Given the description of an element on the screen output the (x, y) to click on. 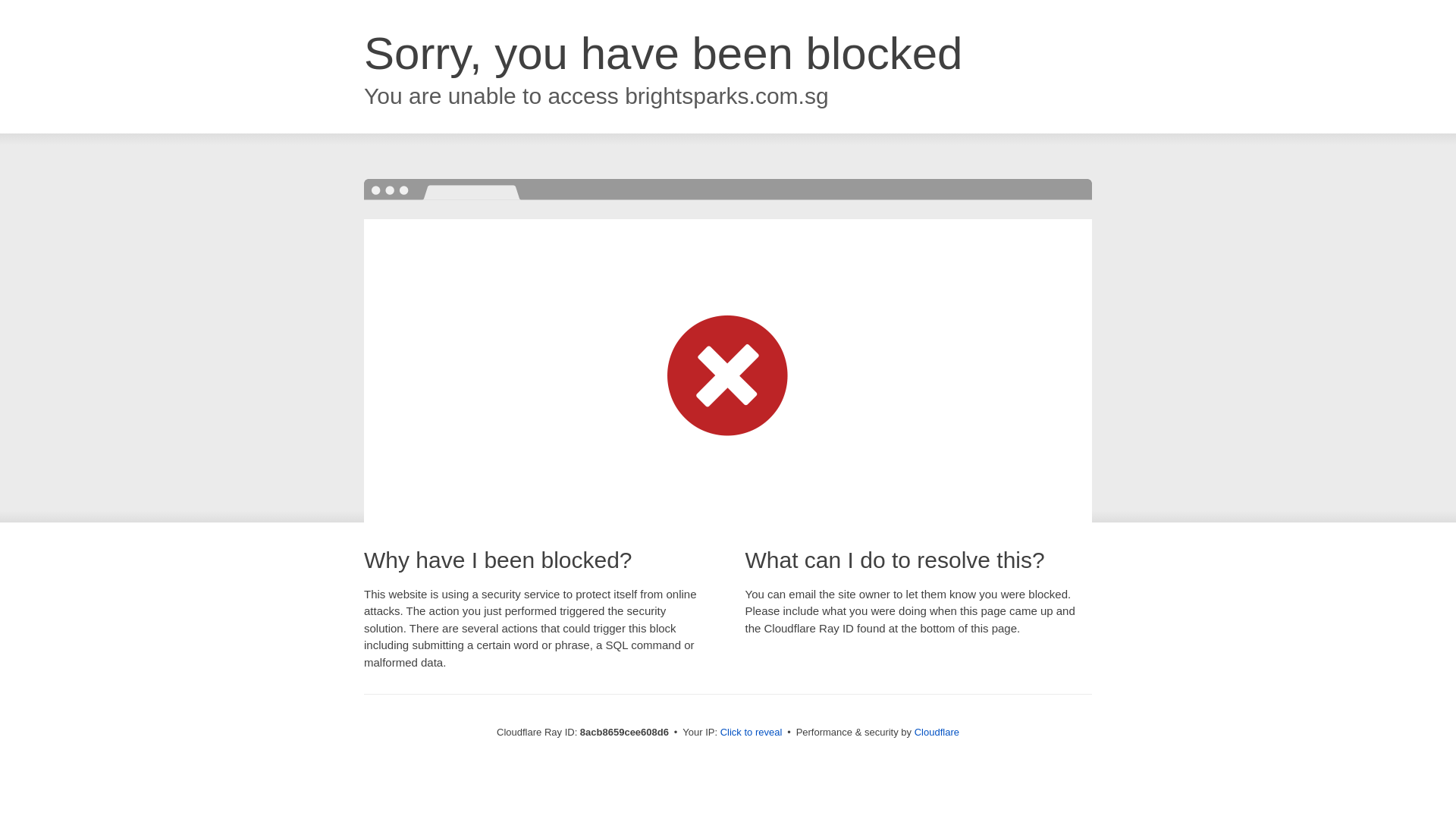
Click to reveal (751, 732)
Cloudflare (936, 731)
